Given the description of an element on the screen output the (x, y) to click on. 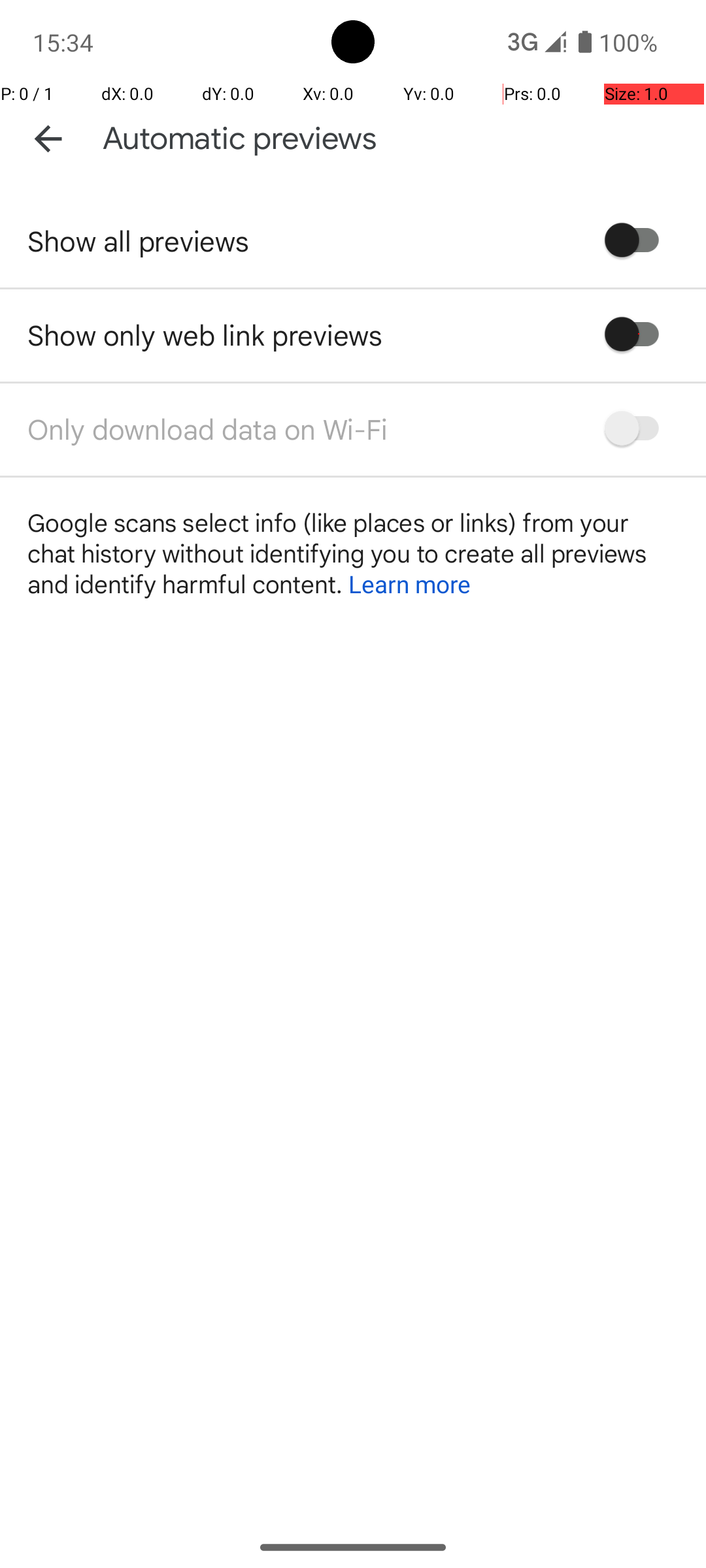
Automatic previews Element type: android.widget.TextView (239, 138)
Google scans select info (like places or links) from your chat history without identifying you to create all previews and identify harmful content. Learn more Element type: android.widget.TextView (353, 552)
Show all previews Element type: android.widget.TextView (138, 240)
Show only web link previews Element type: android.widget.TextView (205, 334)
Only download data on Wi-Fi Element type: android.widget.TextView (207, 428)
